Given the description of an element on the screen output the (x, y) to click on. 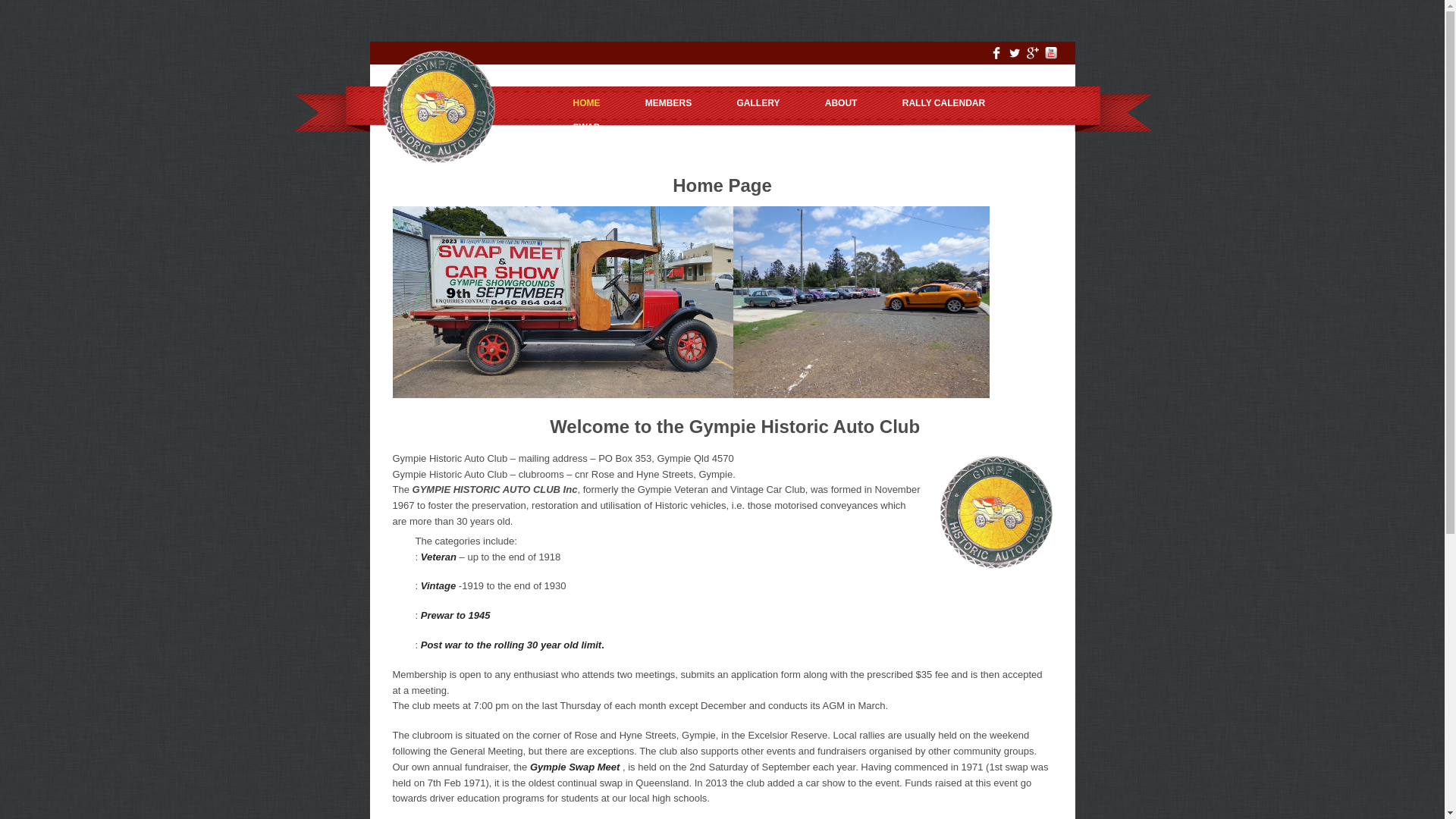
RALLY CALENDAR Element type: text (943, 103)
MEMBERS Element type: text (668, 103)
Twitter Element type: hover (1014, 53)
YouTube Element type: hover (1050, 58)
ABOUT Element type: text (840, 103)
Google Plus Element type: hover (1032, 53)
YouTube Element type: hover (1050, 53)
Facebook Element type: hover (996, 53)
Facebook Element type: hover (996, 58)
Twitter Element type: hover (1014, 58)
HOME Element type: text (586, 103)
Google Plus Element type: hover (1032, 58)
For Car Lovers Element type: hover (437, 159)
SWAP Element type: text (586, 127)
GALLERY Element type: text (758, 103)
